Given the description of an element on the screen output the (x, y) to click on. 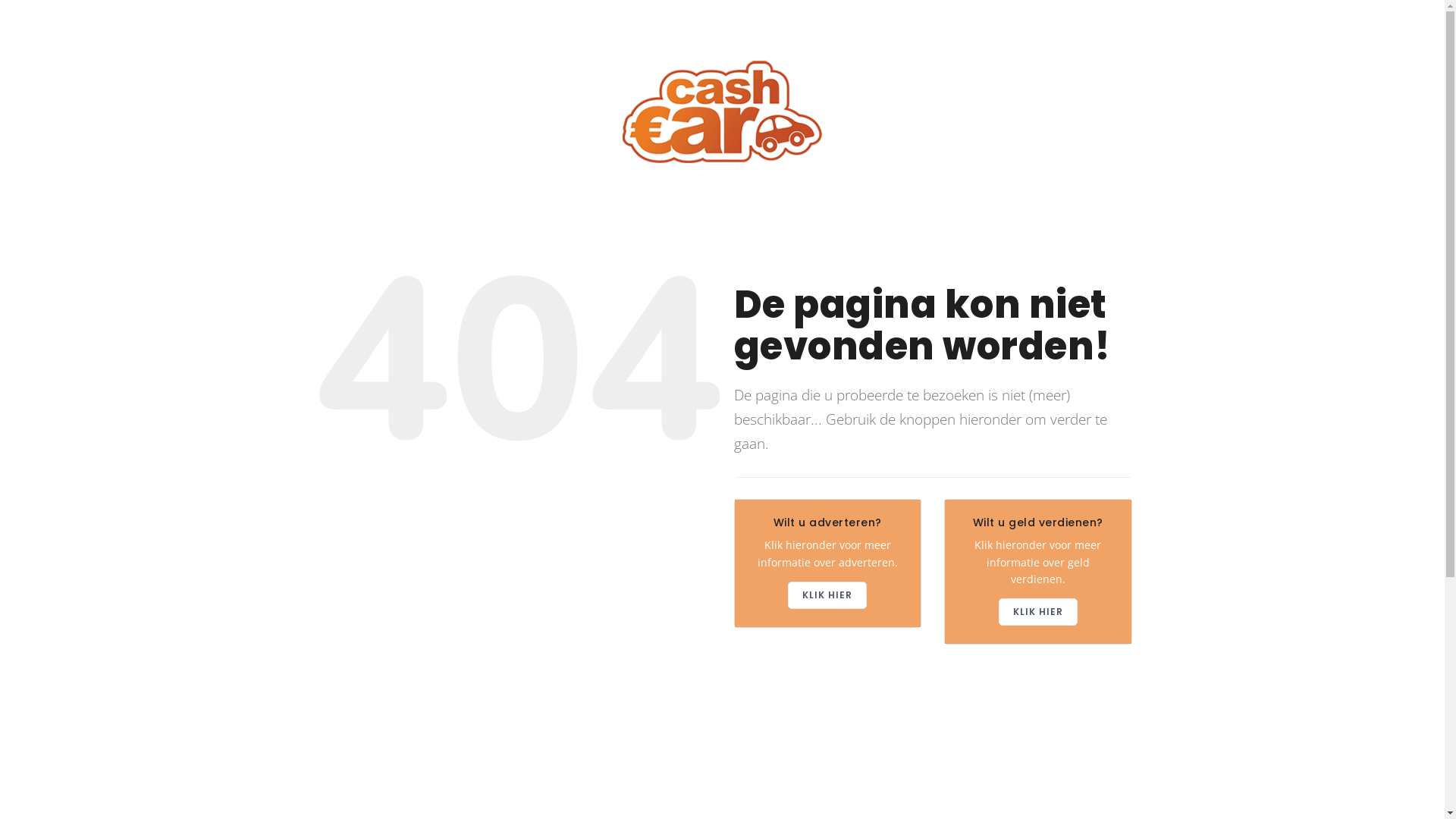
KLIK HIER Element type: text (826, 594)
KLIK HIER Element type: text (1037, 611)
